Given the description of an element on the screen output the (x, y) to click on. 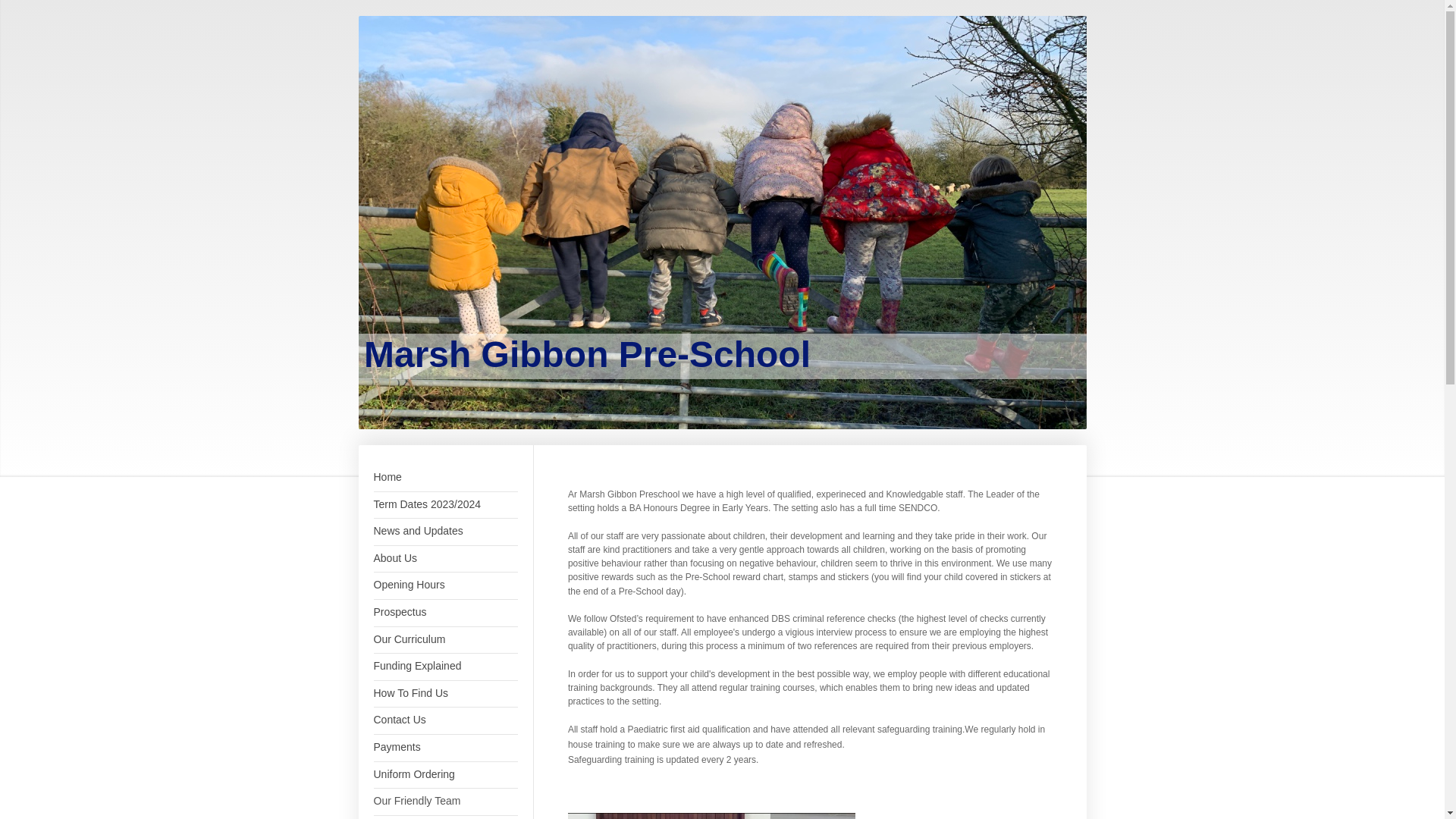
Marsh Gibbon Pre-School (587, 353)
